Given the description of an element on the screen output the (x, y) to click on. 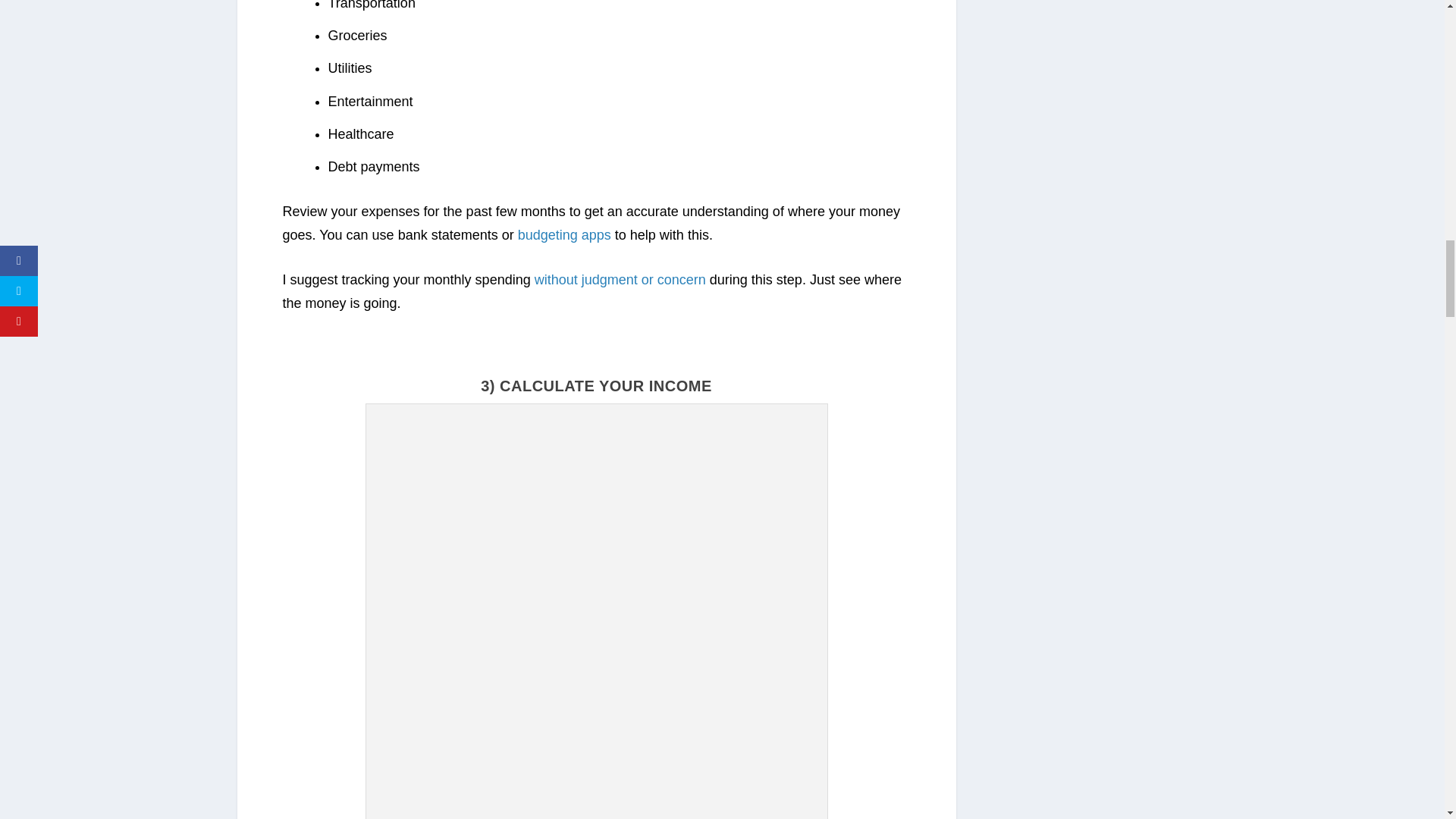
without judgment or concern (620, 279)
budgeting apps (564, 234)
